Given the description of an element on the screen output the (x, y) to click on. 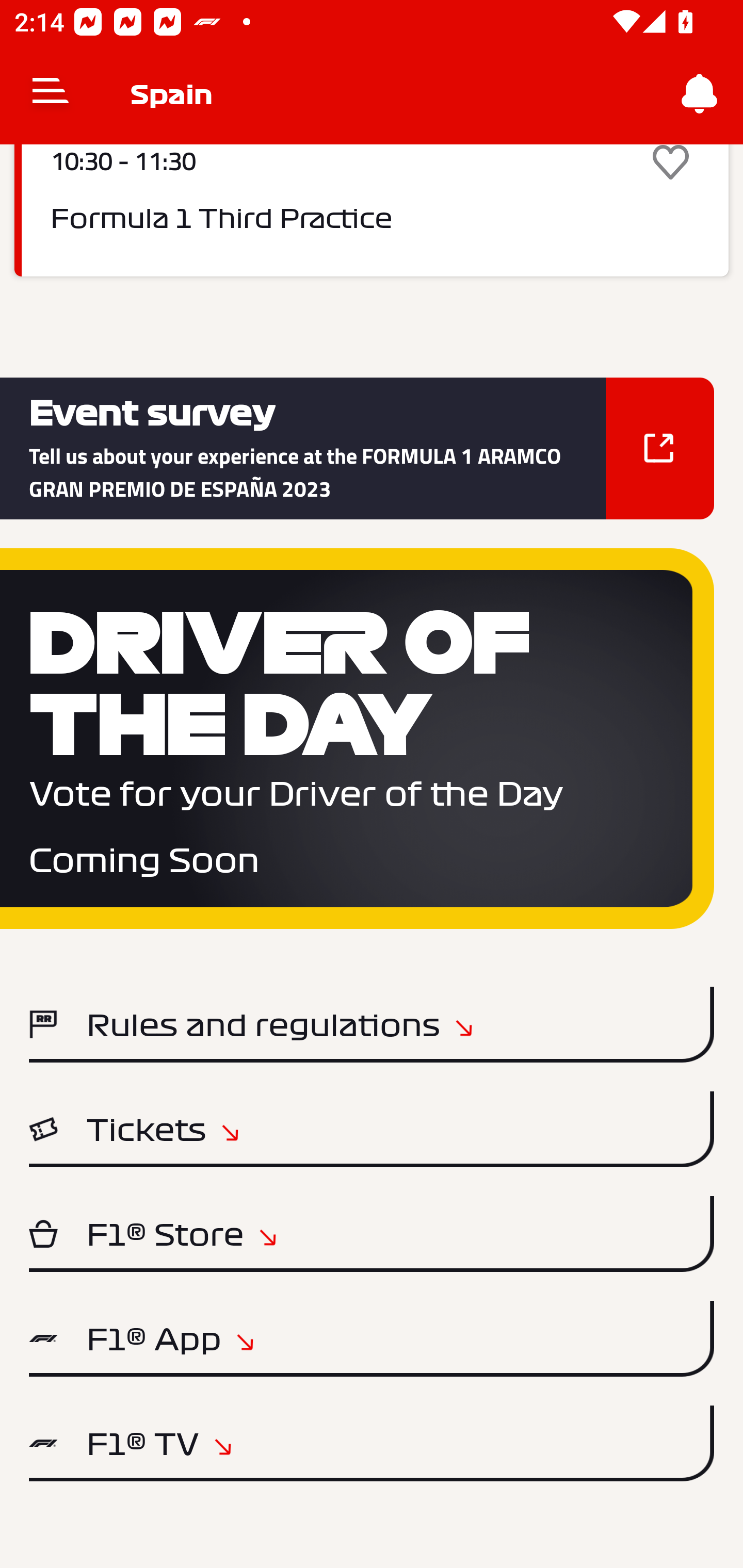
Navigate up (50, 93)
Notifications (699, 93)
10:30 - 11:30 Formula 1 Third Practice (371, 209)
Rules and regulations (371, 1024)
Tickets (371, 1128)
F1® Store (371, 1233)
F1® App (371, 1338)
F1® TV (371, 1442)
